Given the description of an element on the screen output the (x, y) to click on. 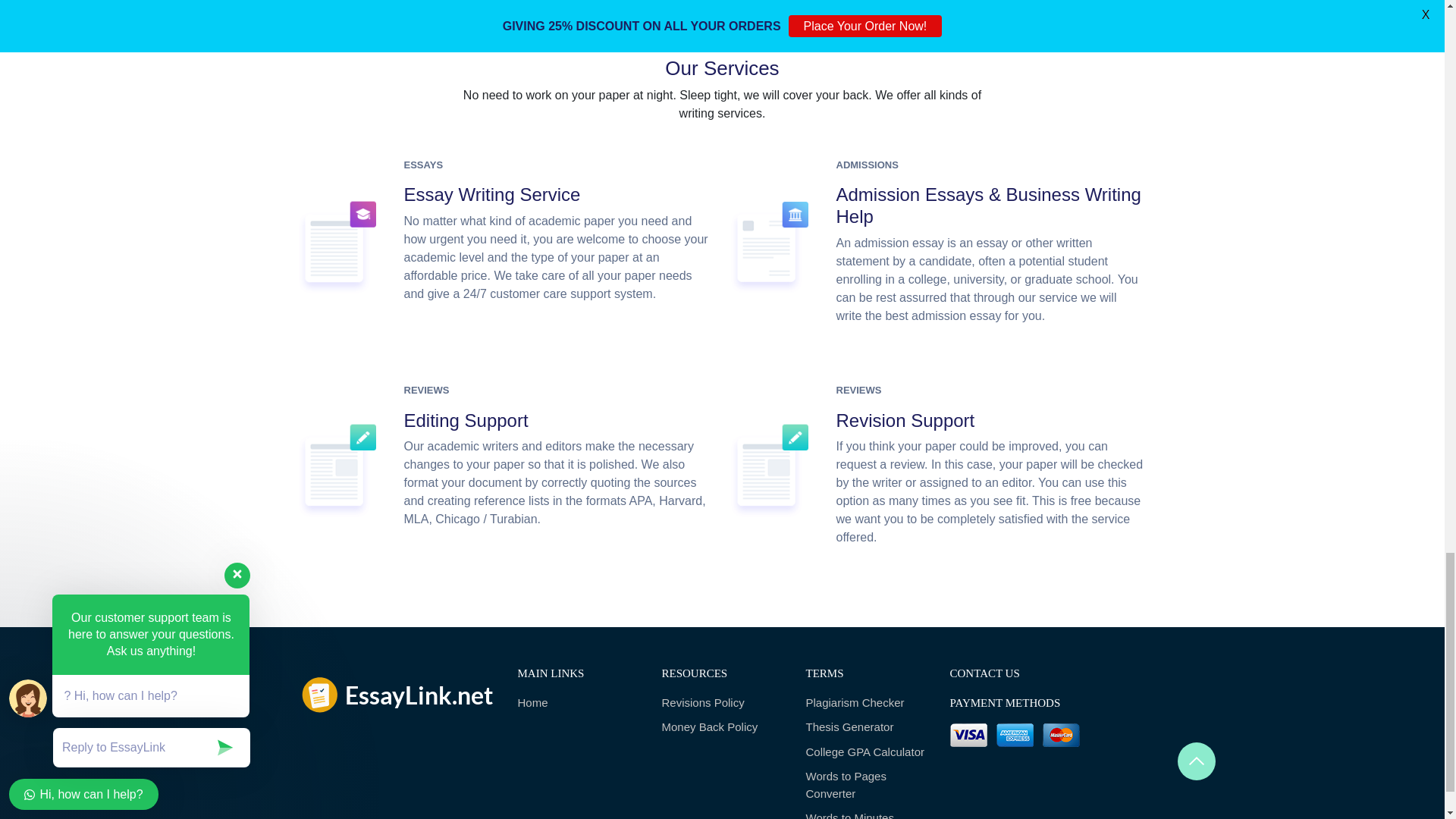
Plagiarism Checker (865, 702)
Thesis Generator (865, 727)
Revisions Policy (722, 702)
Money Back Policy (722, 727)
College GPA Calculator (865, 752)
Words to Pages Converter (865, 785)
Revisions Policy (722, 702)
Home (577, 702)
Words to Pages Converter (865, 785)
Plagiarism Checker (865, 702)
